Given the description of an element on the screen output the (x, y) to click on. 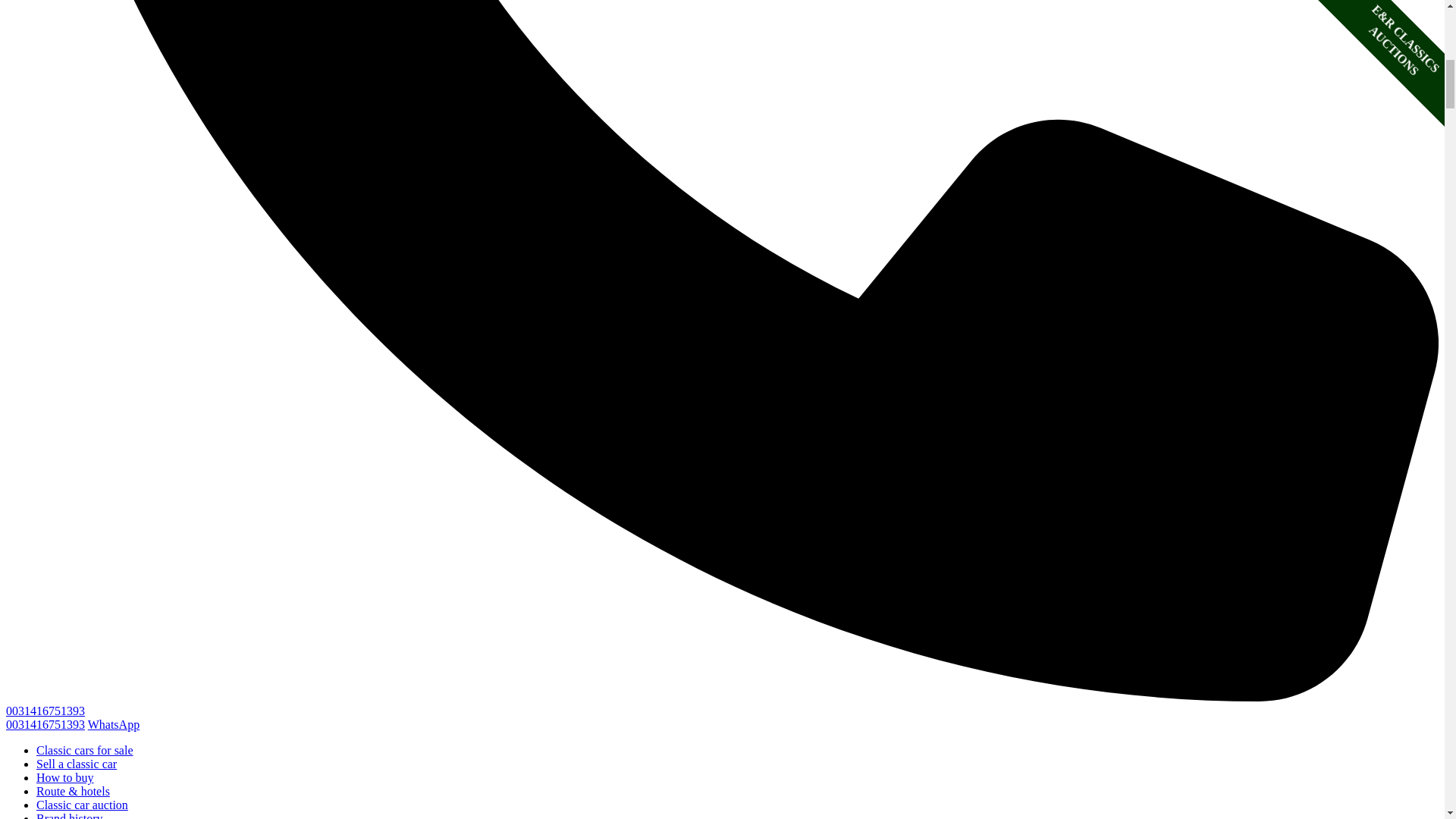
Sell a classic car (76, 763)
Classic car auction (82, 804)
Classic cars for sale (84, 749)
WhatsApp (113, 724)
Brand history (69, 815)
0031416751393 (44, 724)
How to buy (65, 777)
